Given the description of an element on the screen output the (x, y) to click on. 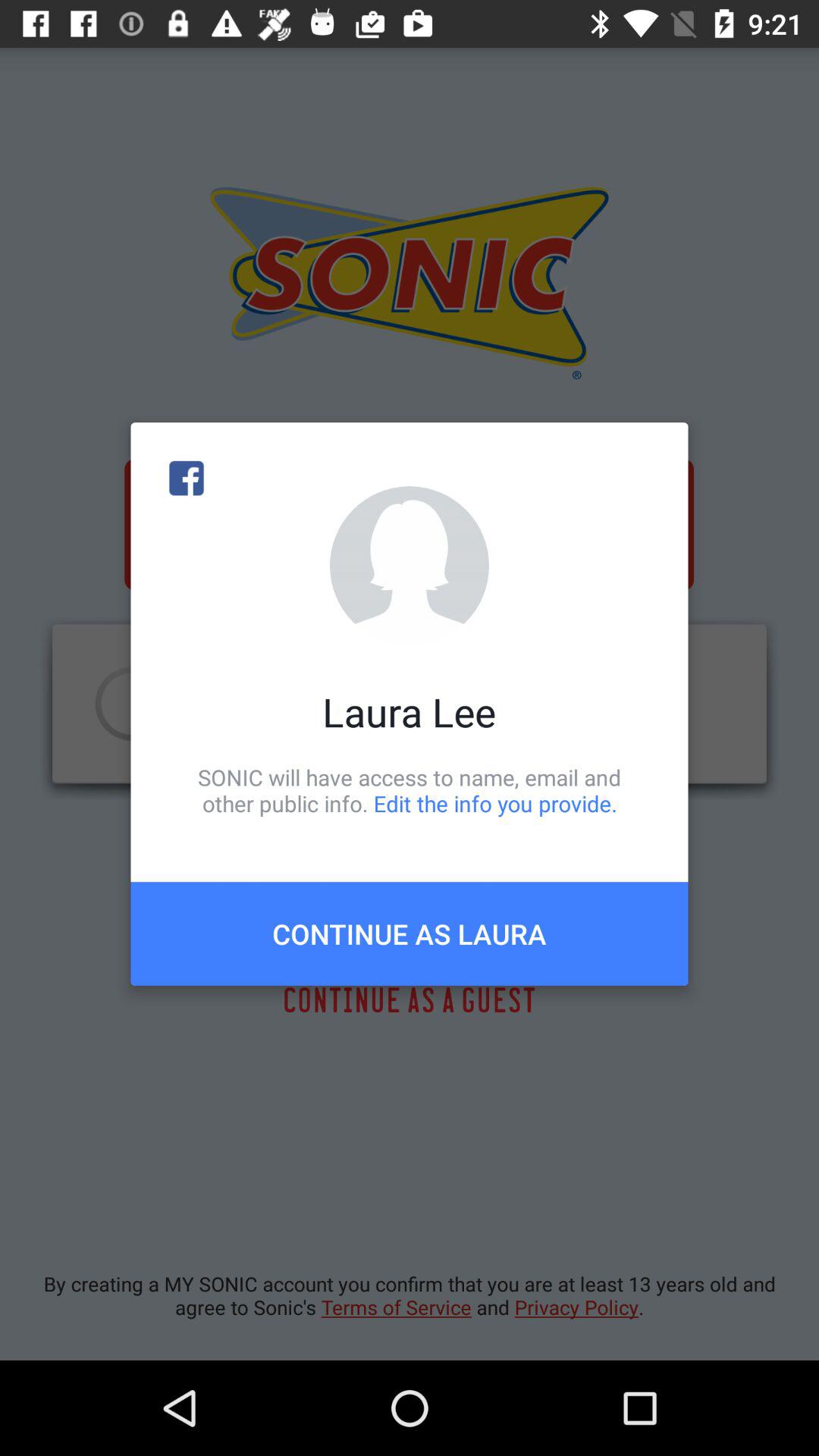
select item above the continue as laura item (409, 790)
